Given the description of an element on the screen output the (x, y) to click on. 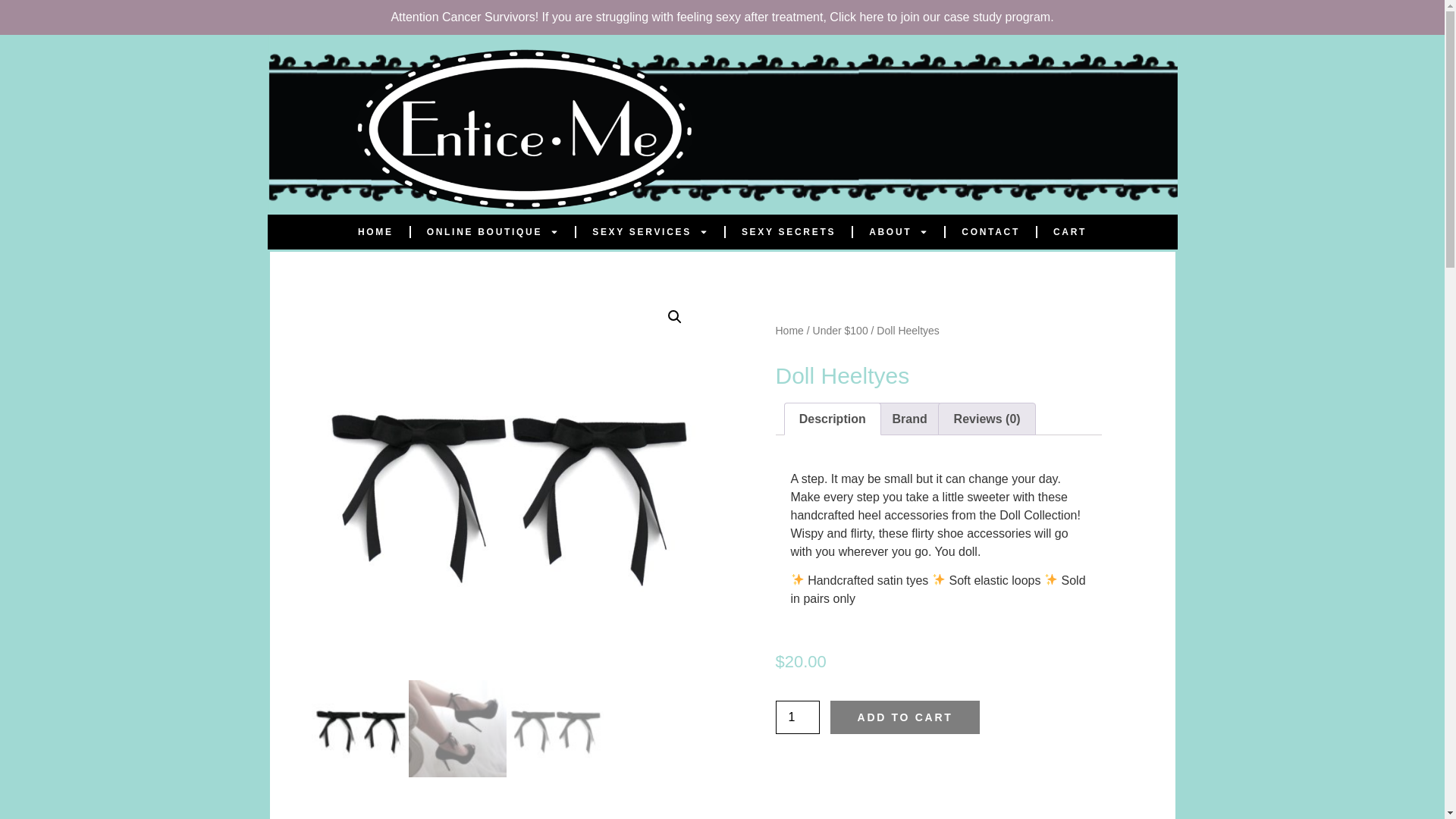
HOME (375, 231)
ONLINE BOUTIQUE (492, 231)
1 (796, 717)
